Given the description of an element on the screen output the (x, y) to click on. 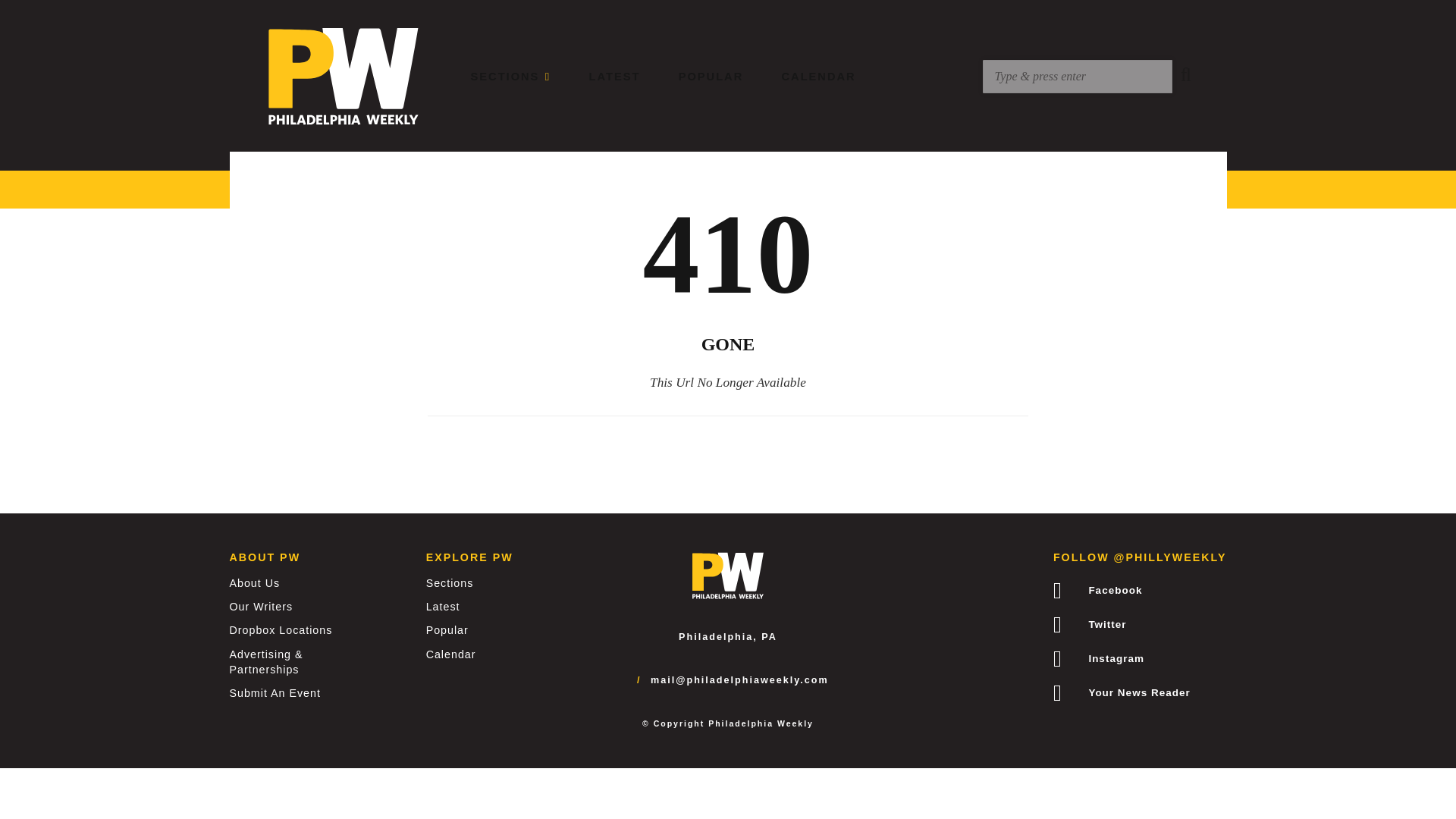
LATEST (614, 76)
POPULAR (711, 76)
SECTIONS (510, 76)
Search for: (1077, 76)
CALENDAR (818, 76)
